Given the description of an element on the screen output the (x, y) to click on. 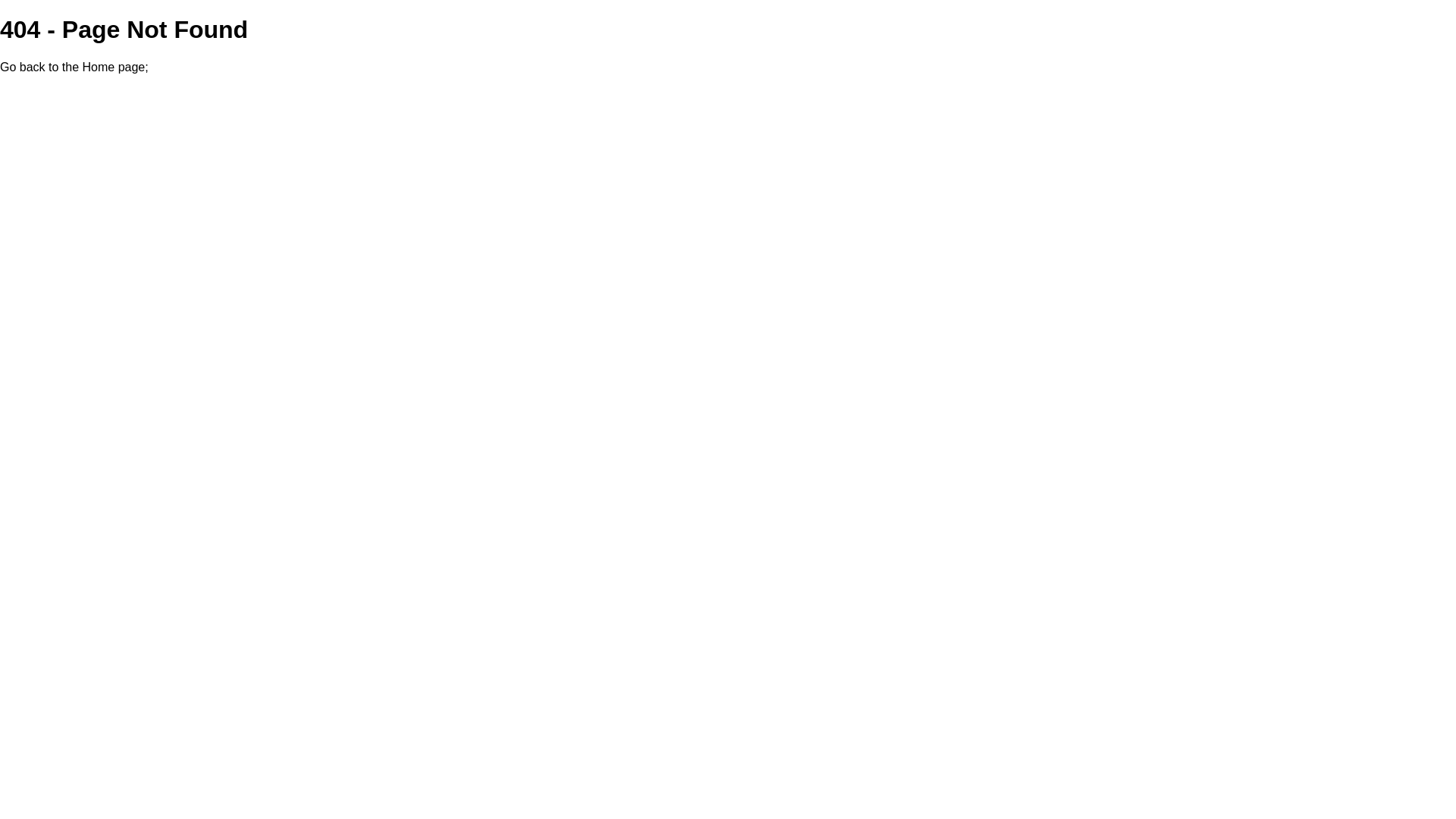
Go back to the Home page Element type: text (72, 66)
